Given the description of an element on the screen output the (x, y) to click on. 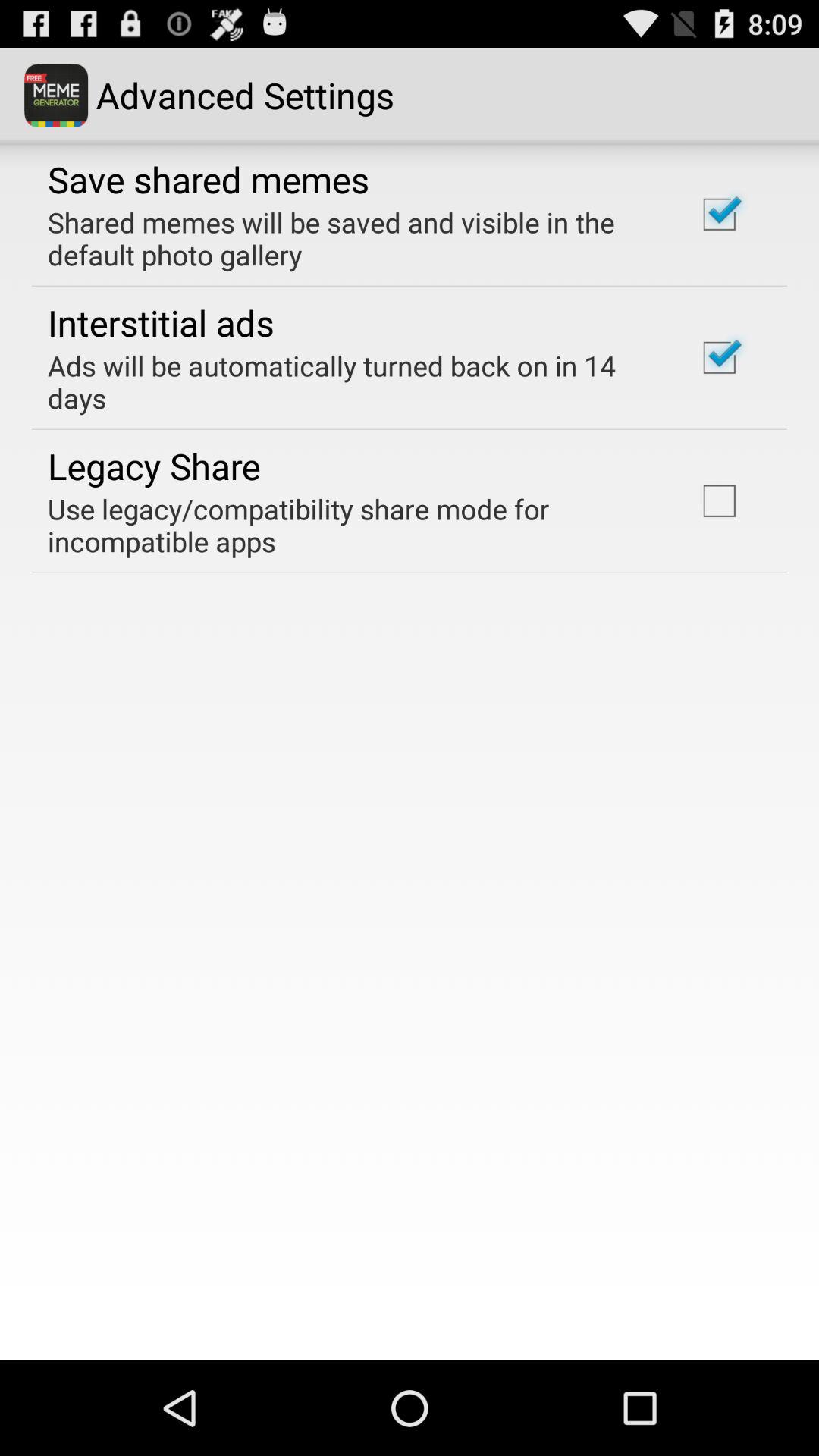
click the first check box (719, 214)
